Given the description of an element on the screen output the (x, y) to click on. 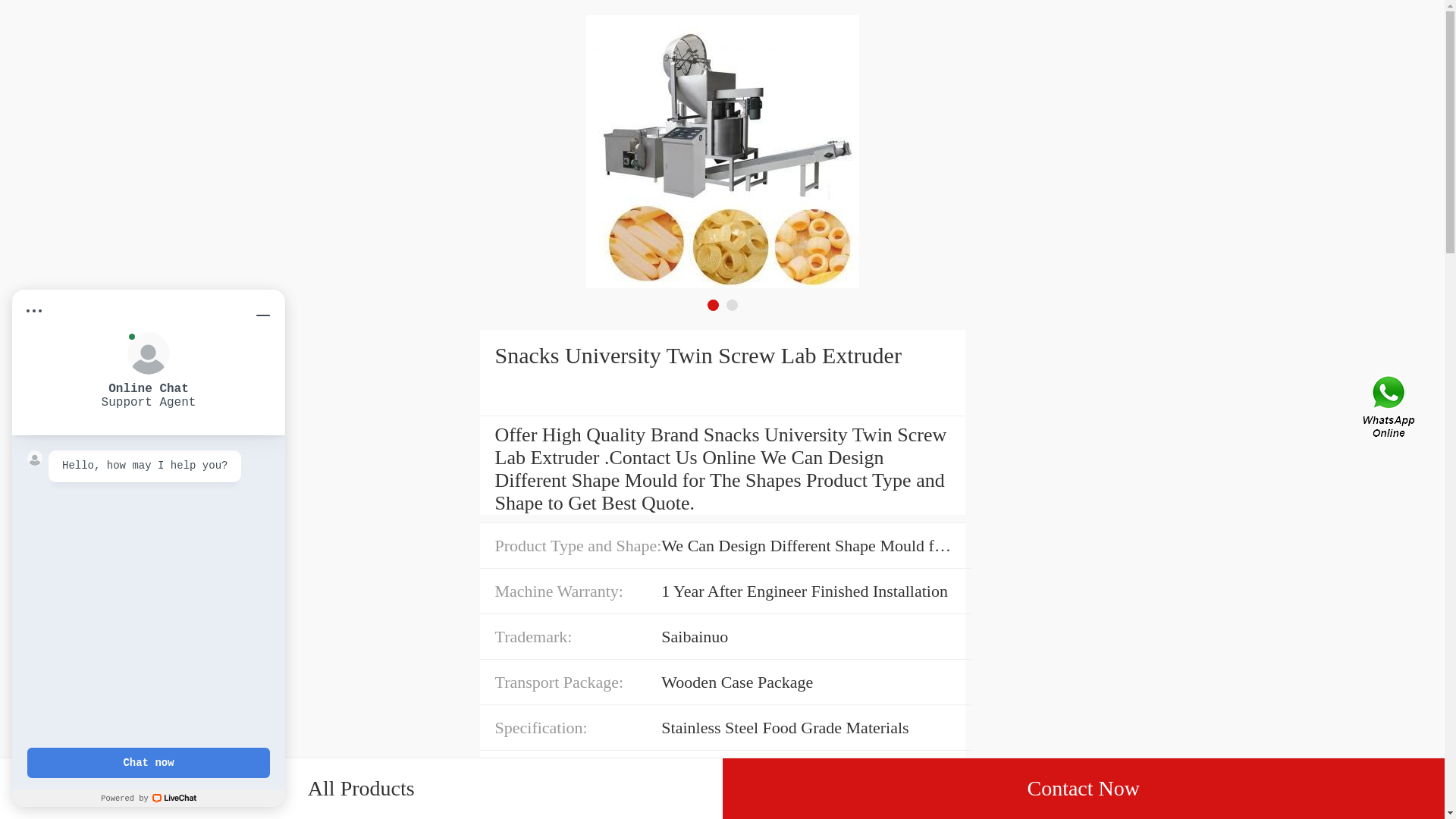
Contact Us Element type: hover (1389, 409)
